Given the description of an element on the screen output the (x, y) to click on. 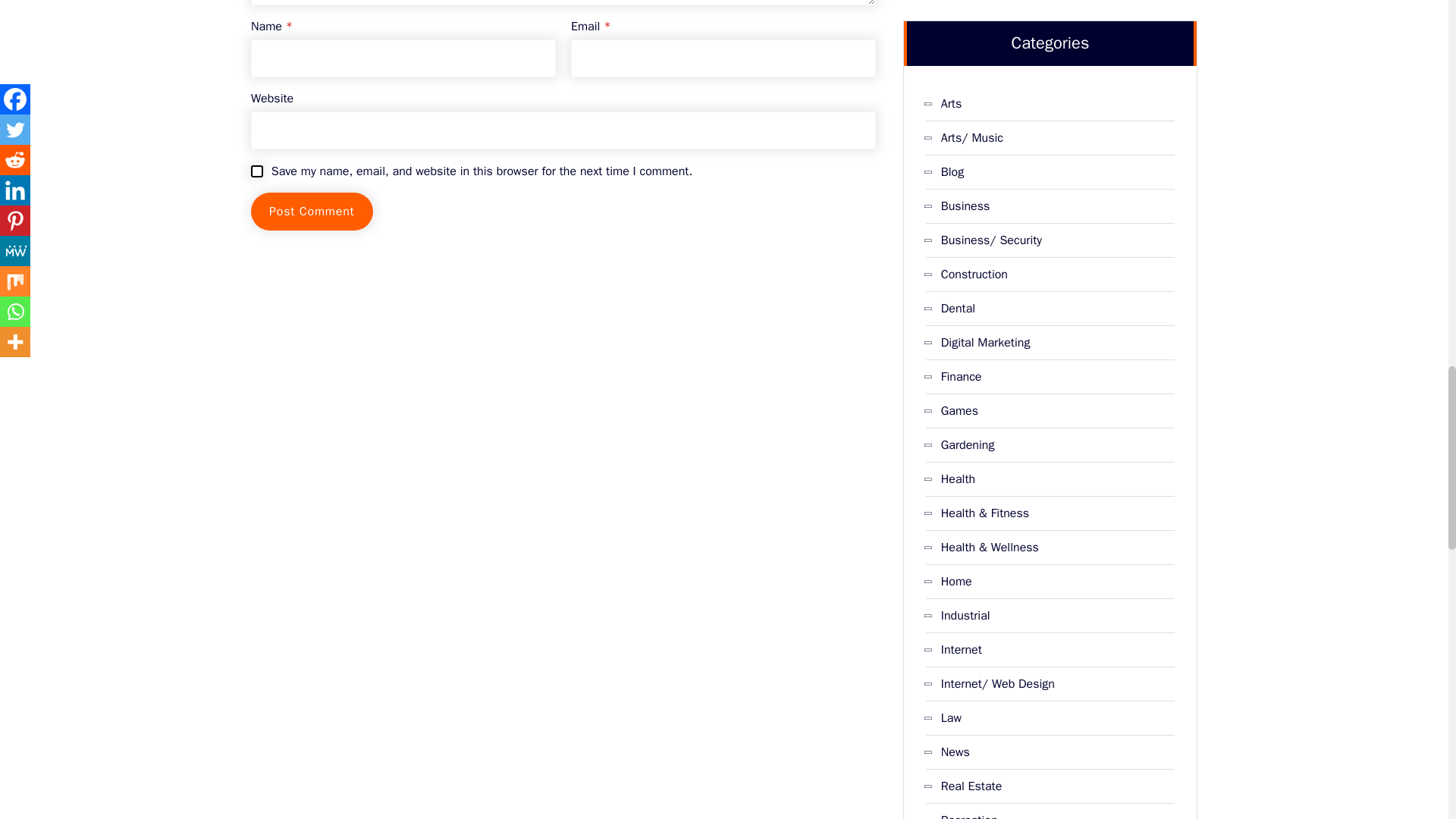
yes (256, 171)
Post Comment (311, 211)
